Given the description of an element on the screen output the (x, y) to click on. 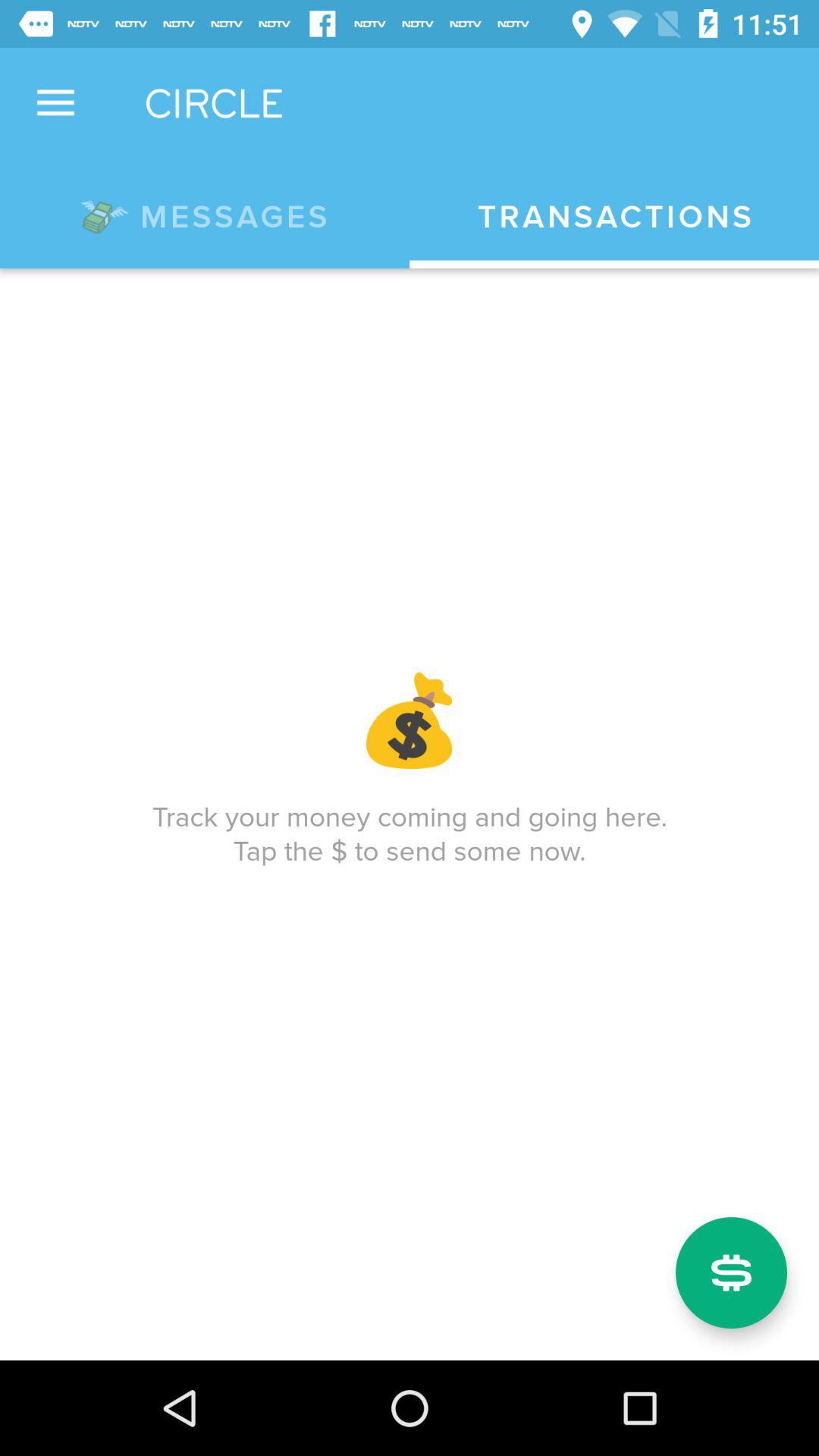
select icon next to transactions icon (204, 213)
